Given the description of an element on the screen output the (x, y) to click on. 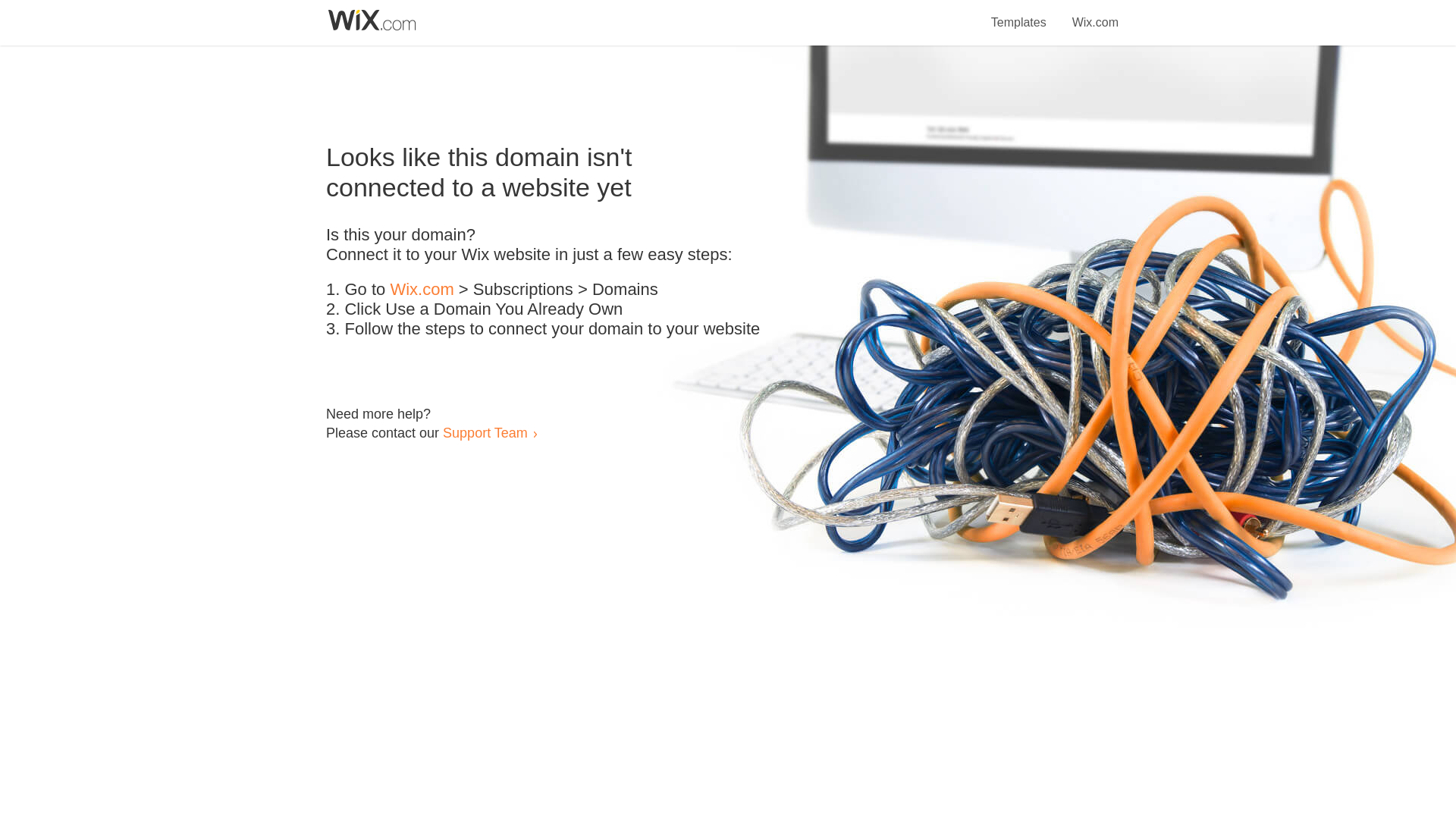
Templates (1018, 14)
Support Team (484, 432)
Wix.com (421, 289)
Wix.com (1095, 14)
